Given the description of an element on the screen output the (x, y) to click on. 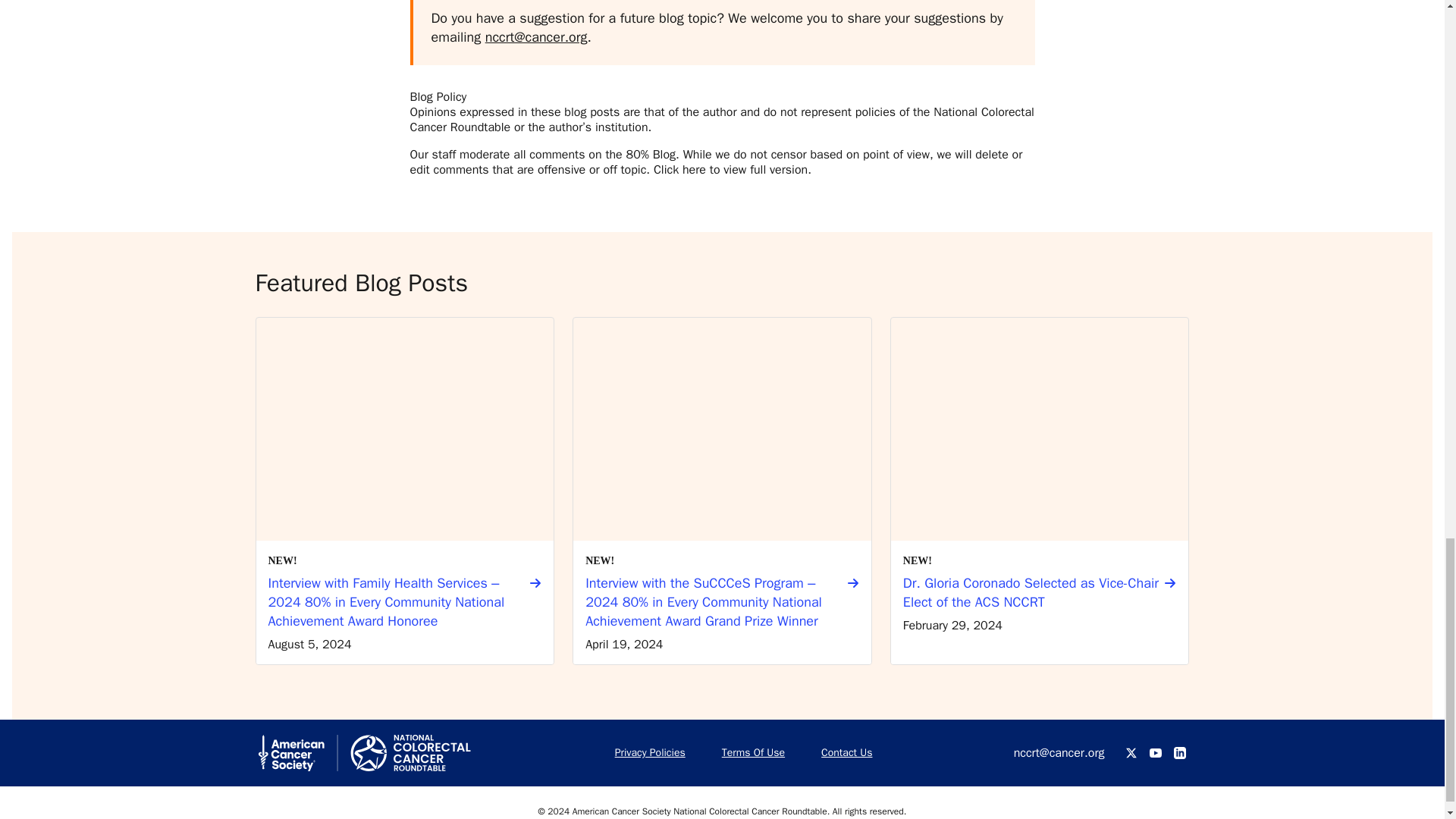
Visit us on YouTube (1155, 752)
Visit us on X (1131, 752)
Visit us on LinkedIn (1179, 752)
